Given the description of an element on the screen output the (x, y) to click on. 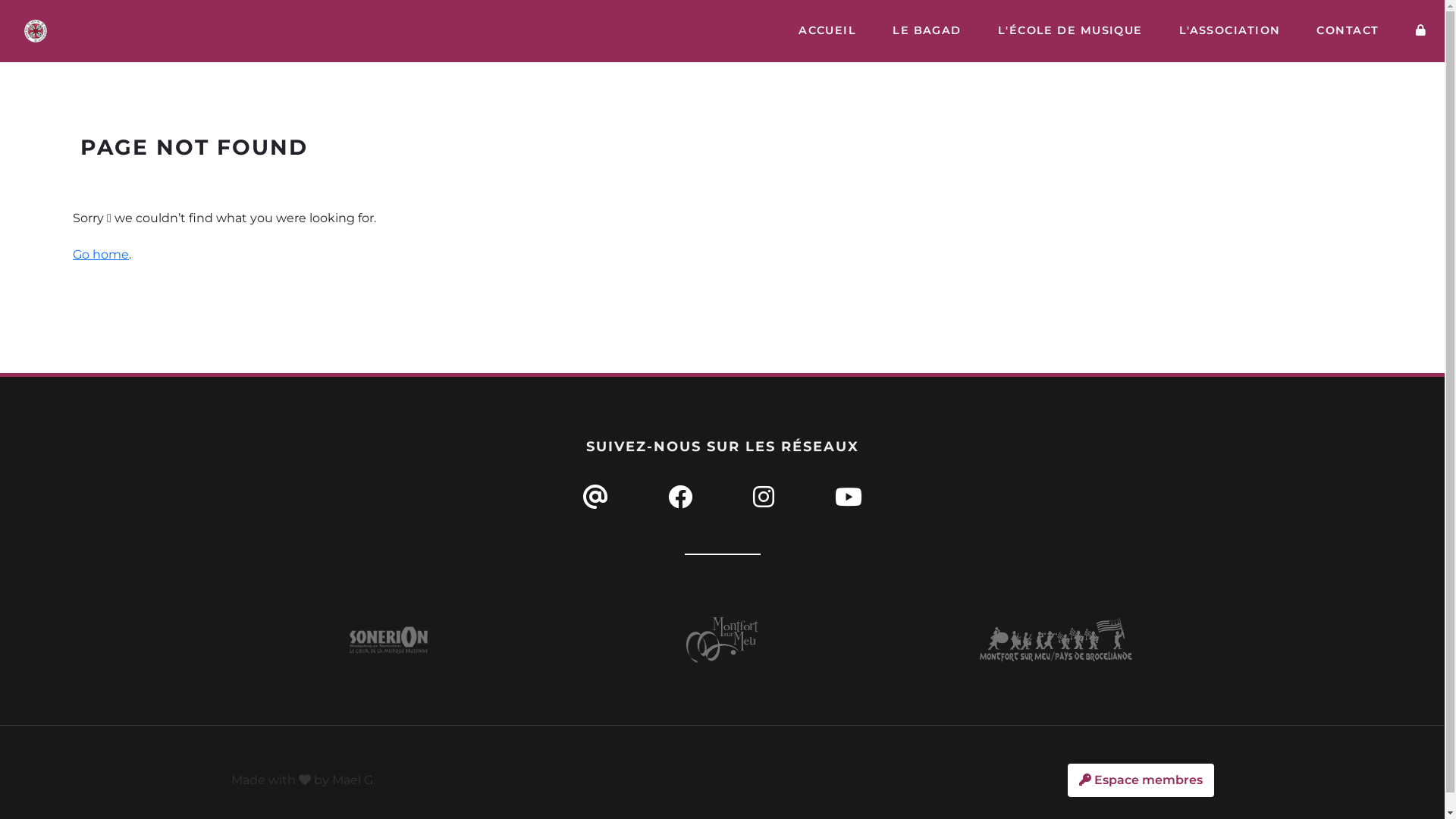
CONTACT Element type: text (1347, 30)
Espace membres Element type: hover (1420, 30)
L'ASSOCIATION Element type: text (1229, 30)
Go home Element type: text (100, 254)
LE BAGAD Element type: text (926, 30)
ACCUEIL Element type: text (827, 30)
Espace membres Element type: text (1140, 780)
